Given the description of an element on the screen output the (x, y) to click on. 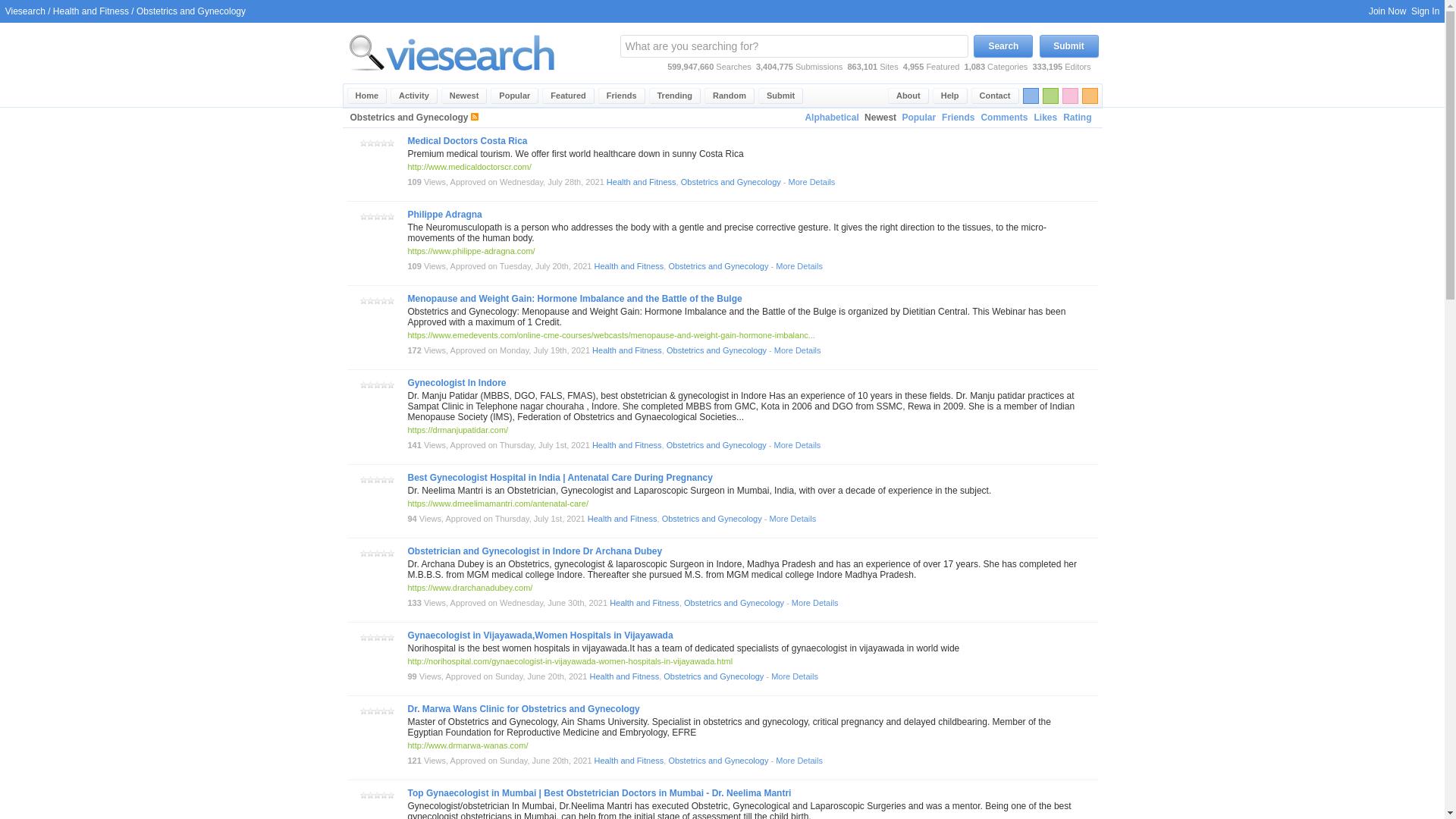
Some of our Lastest Referrers (621, 95)
Friends (957, 117)
Viesearch - Human Powered Search Engine (452, 80)
Recent social activity (414, 95)
Friends (621, 95)
The top 50 longest featured sites in Viesearch (567, 95)
Search (1003, 46)
About (908, 95)
Health and Fitness (90, 10)
Help (950, 95)
Contact (995, 95)
Likes (1044, 117)
Submit a new site (780, 95)
Activity (414, 95)
Popular (918, 117)
